Given the description of an element on the screen output the (x, y) to click on. 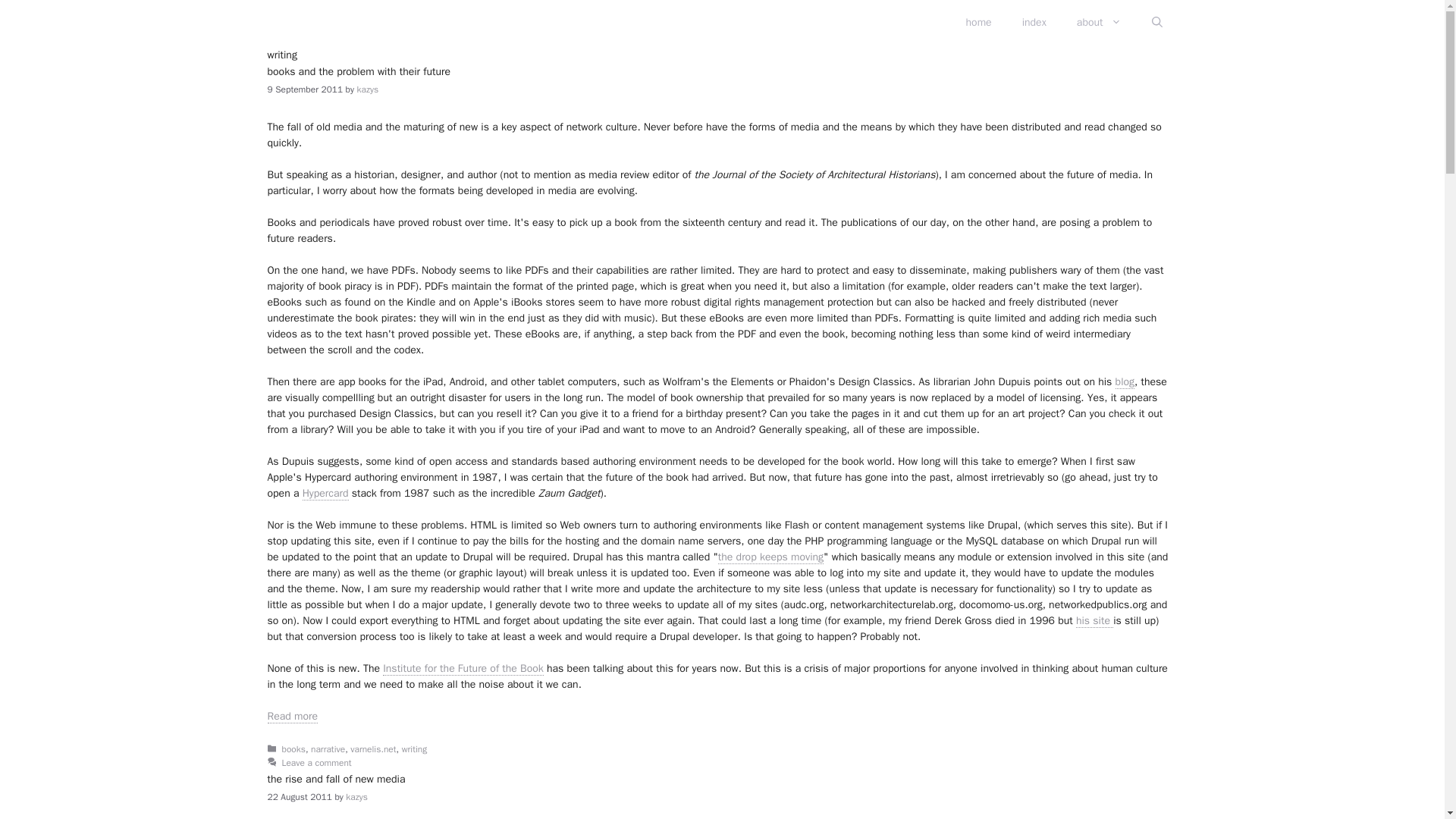
index (1034, 22)
blog (1124, 382)
Books and the Problem with their Future (291, 716)
home (978, 22)
View all posts by kazys (357, 797)
the drop keeps moving (770, 557)
varnelis.net (373, 749)
books (293, 749)
View all posts by kazys (367, 89)
Read more (291, 716)
